Given the description of an element on the screen output the (x, y) to click on. 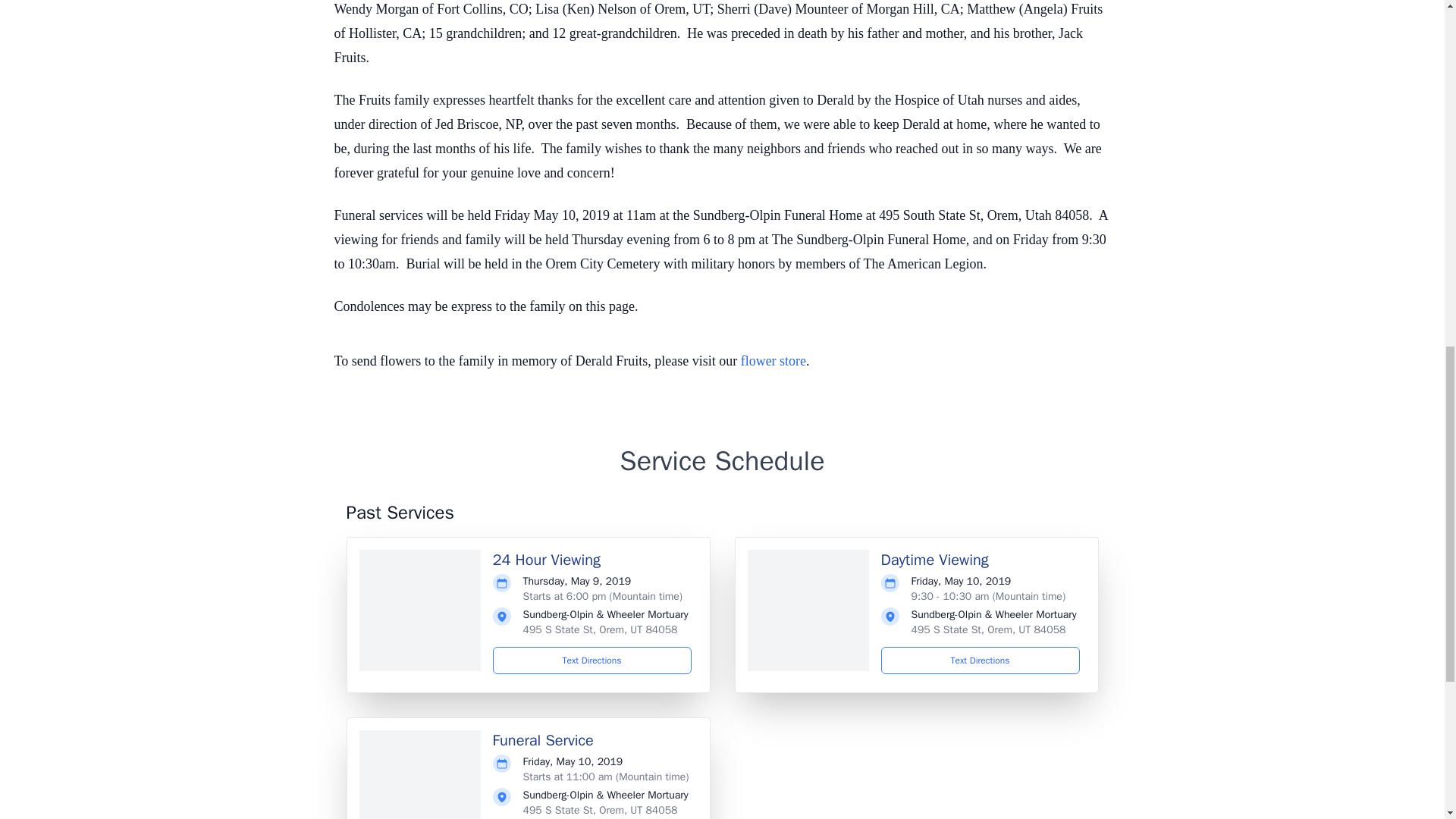
Text Directions (980, 660)
495 S State St, Orem, UT 84058 (988, 629)
flower store (773, 360)
495 S State St, Orem, UT 84058 (600, 629)
495 S State St, Orem, UT 84058 (600, 809)
Text Directions (592, 660)
